Given the description of an element on the screen output the (x, y) to click on. 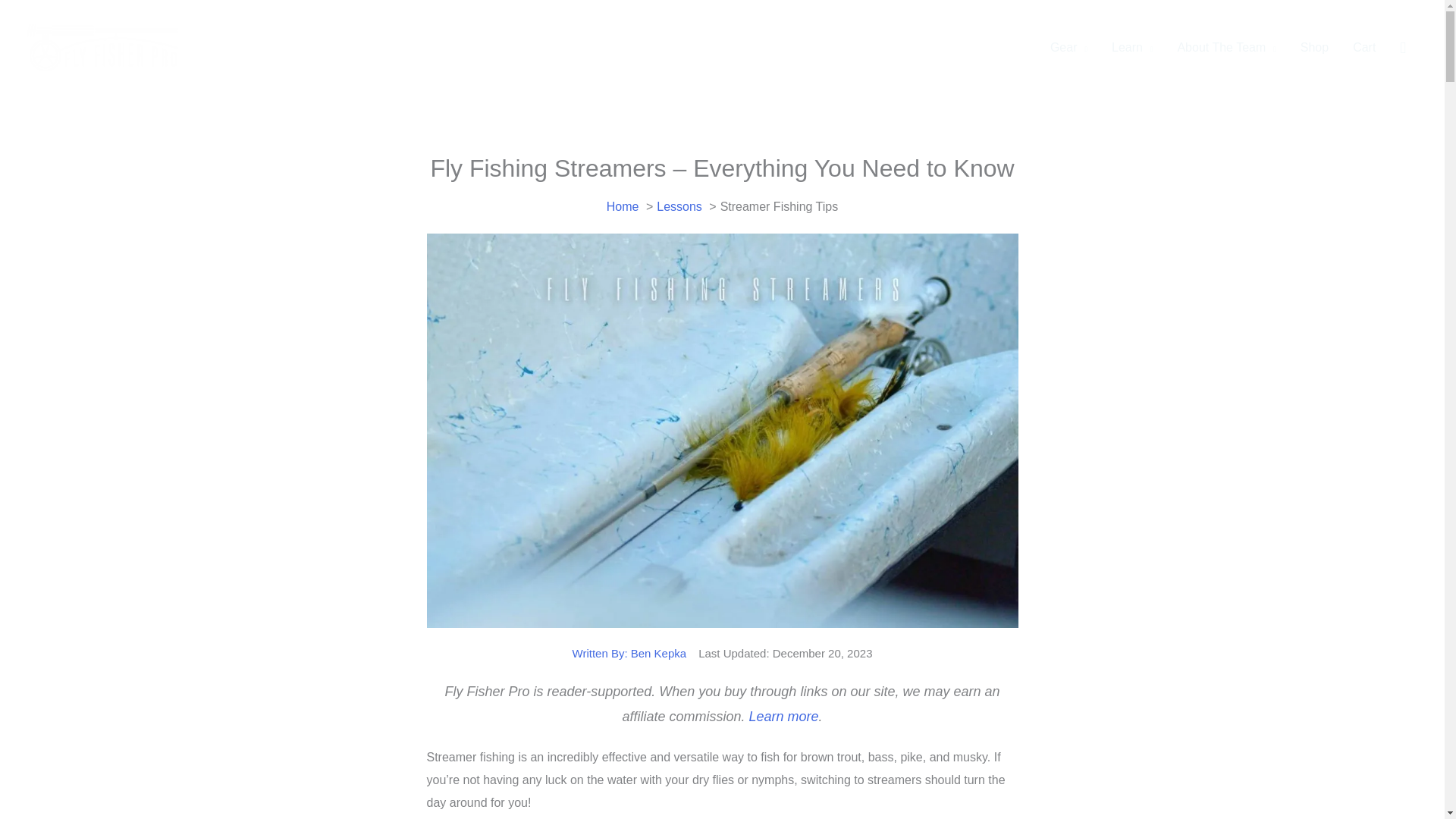
Lessons (678, 205)
Cart (1363, 47)
Home (623, 205)
Gear (1068, 47)
Written By: Ben Kepka (629, 653)
Learn (1131, 47)
Learn more (783, 716)
Shop (1314, 47)
About The Team (1225, 47)
